Given the description of an element on the screen output the (x, y) to click on. 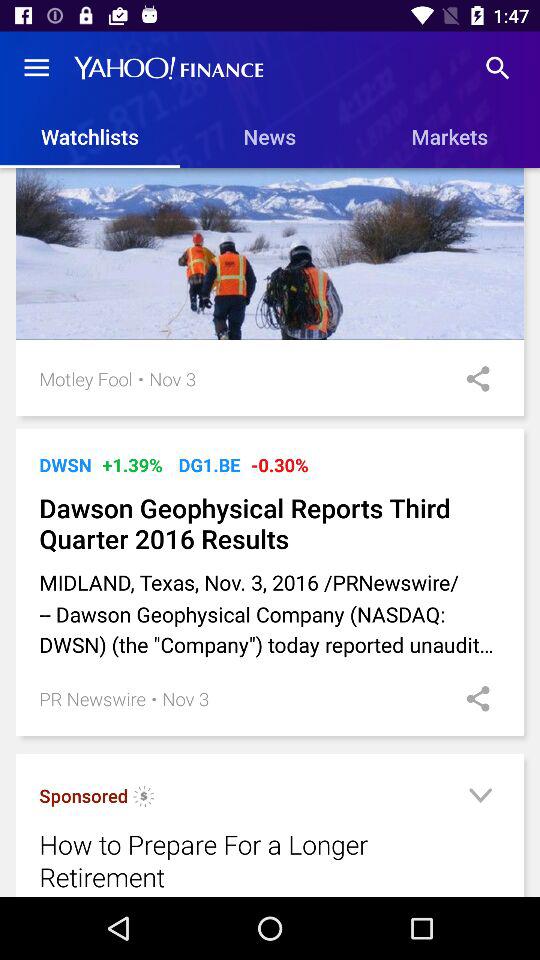
choose the item to the right of sponsored (143, 798)
